Given the description of an element on the screen output the (x, y) to click on. 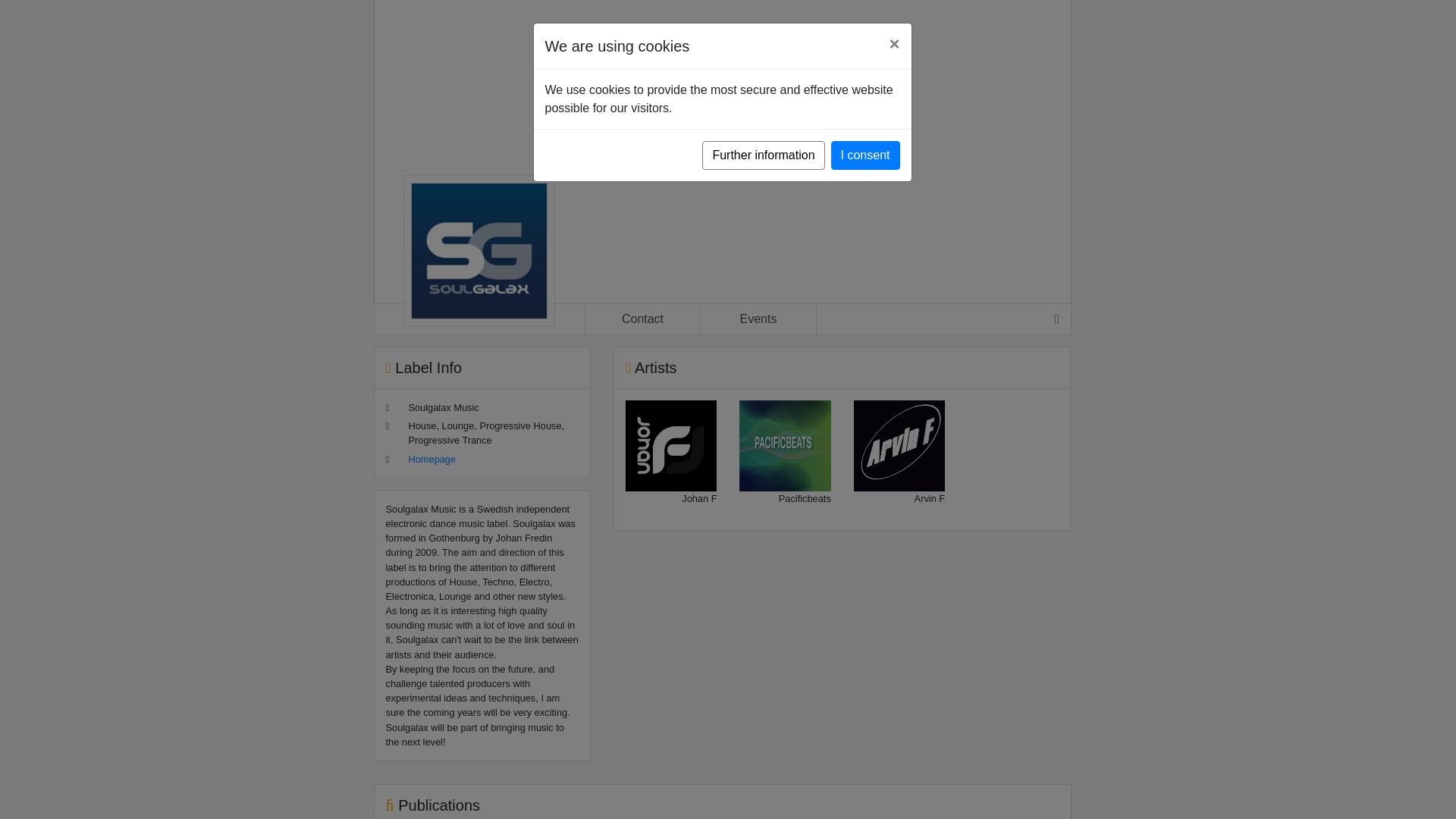
Further information (762, 154)
I consent (865, 154)
Homepage (431, 459)
Contact (642, 318)
Events (758, 318)
